Given the description of an element on the screen output the (x, y) to click on. 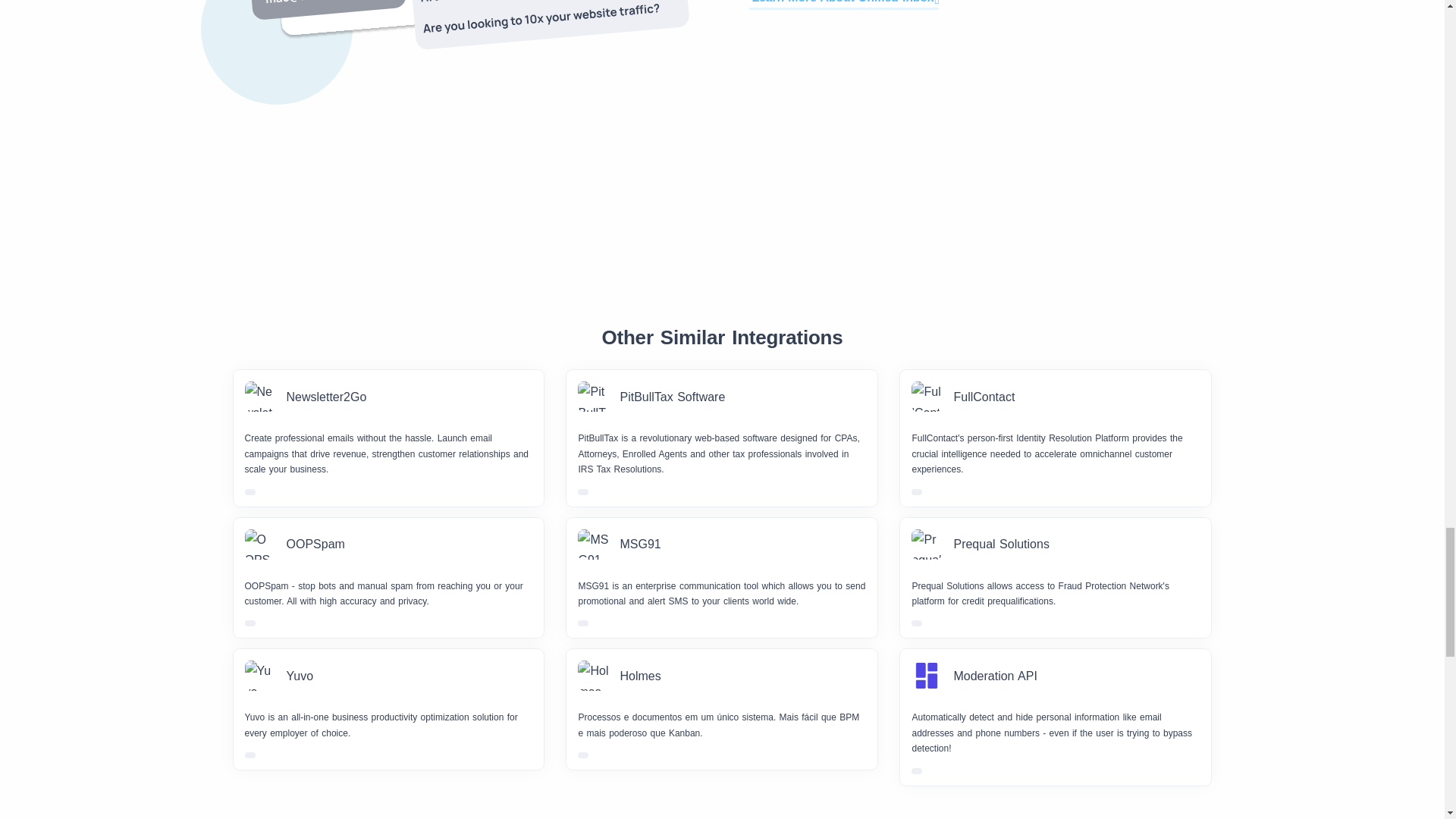
Learn More About Unified Inbox (844, 4)
SalesBlink Email WarmUp Deliverability (463, 37)
